Given the description of an element on the screen output the (x, y) to click on. 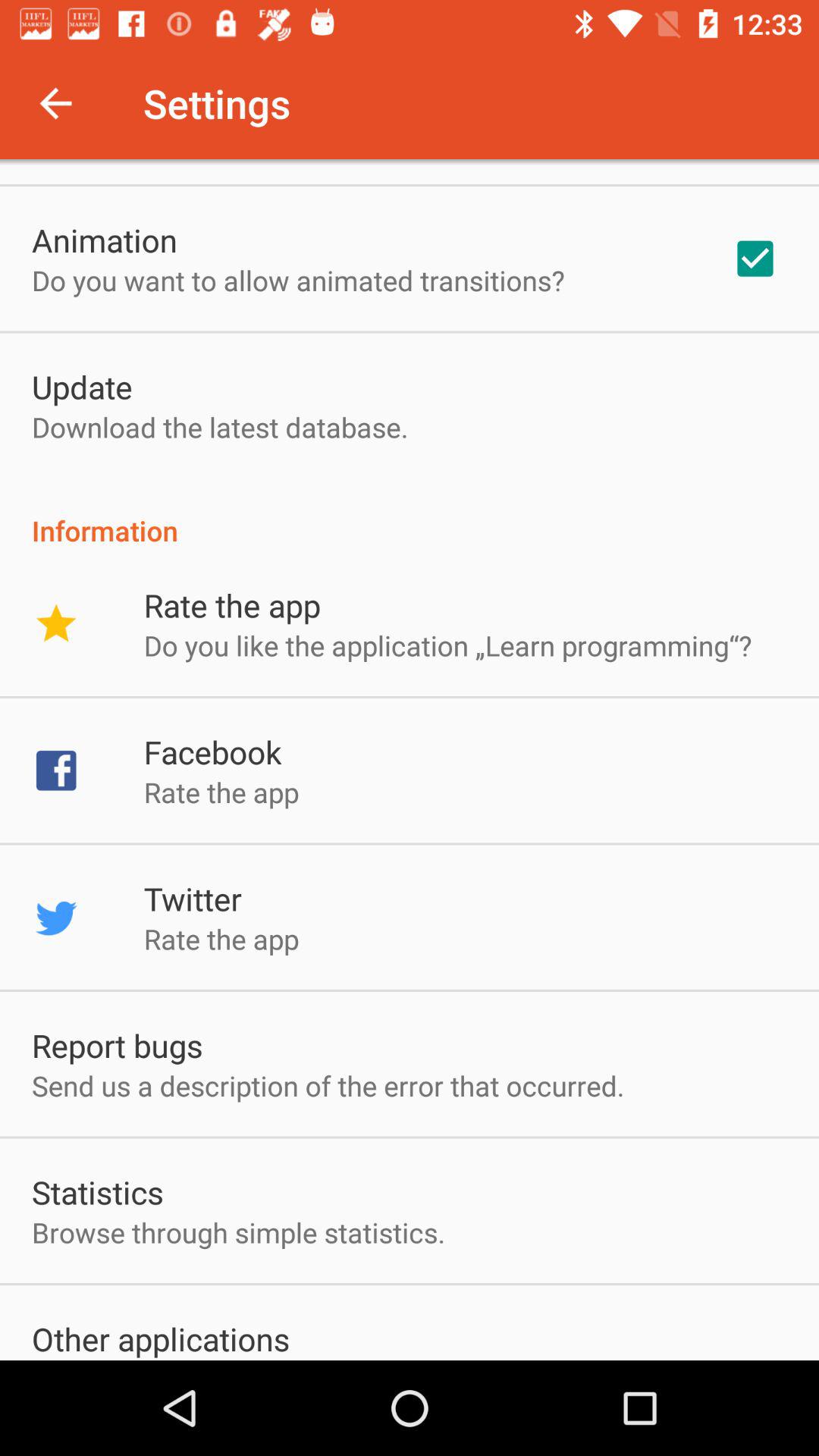
turn off app above do you want (104, 239)
